Given the description of an element on the screen output the (x, y) to click on. 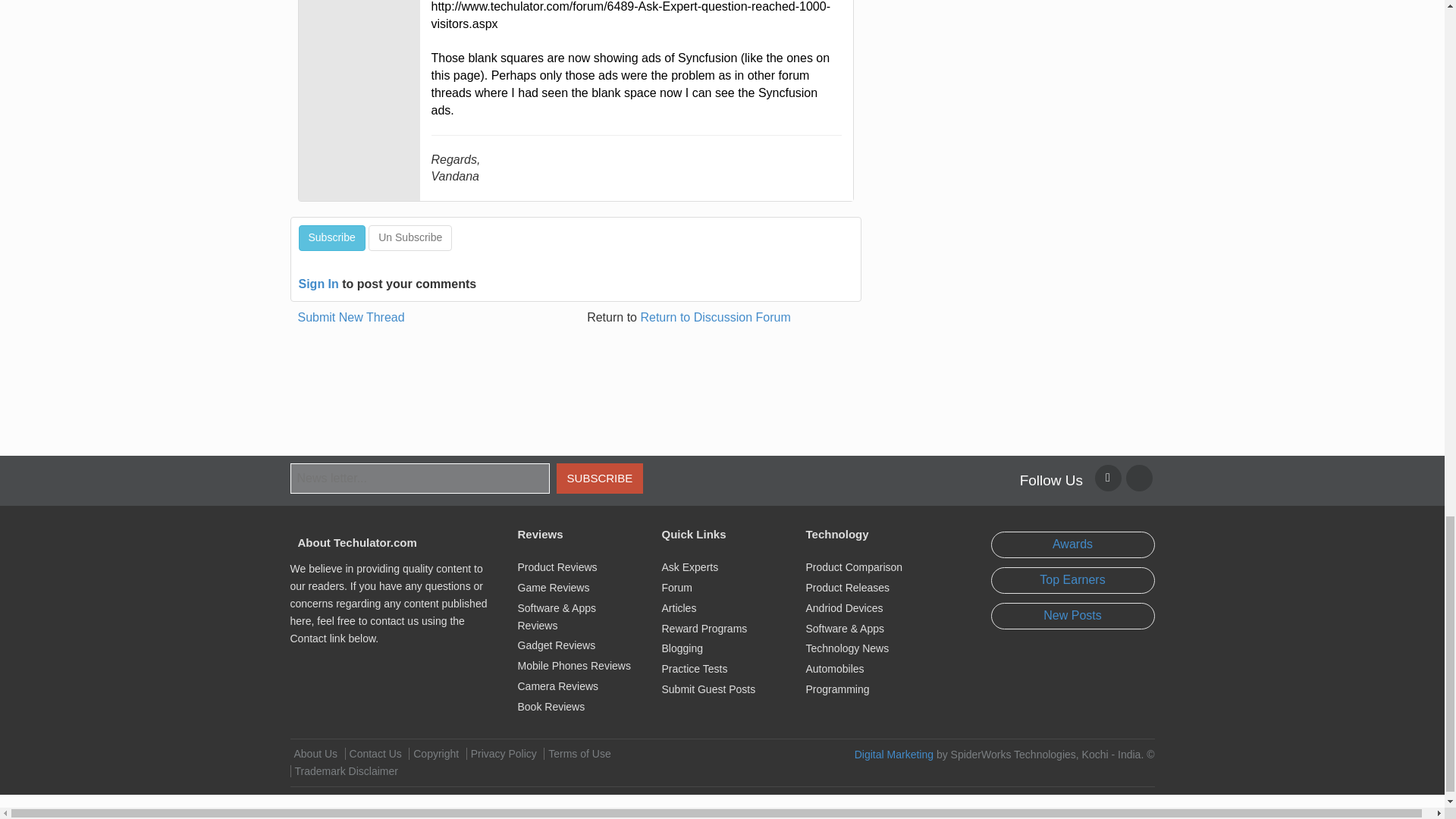
Subscribe (331, 237)
Un Subscribe (409, 237)
